Given the description of an element on the screen output the (x, y) to click on. 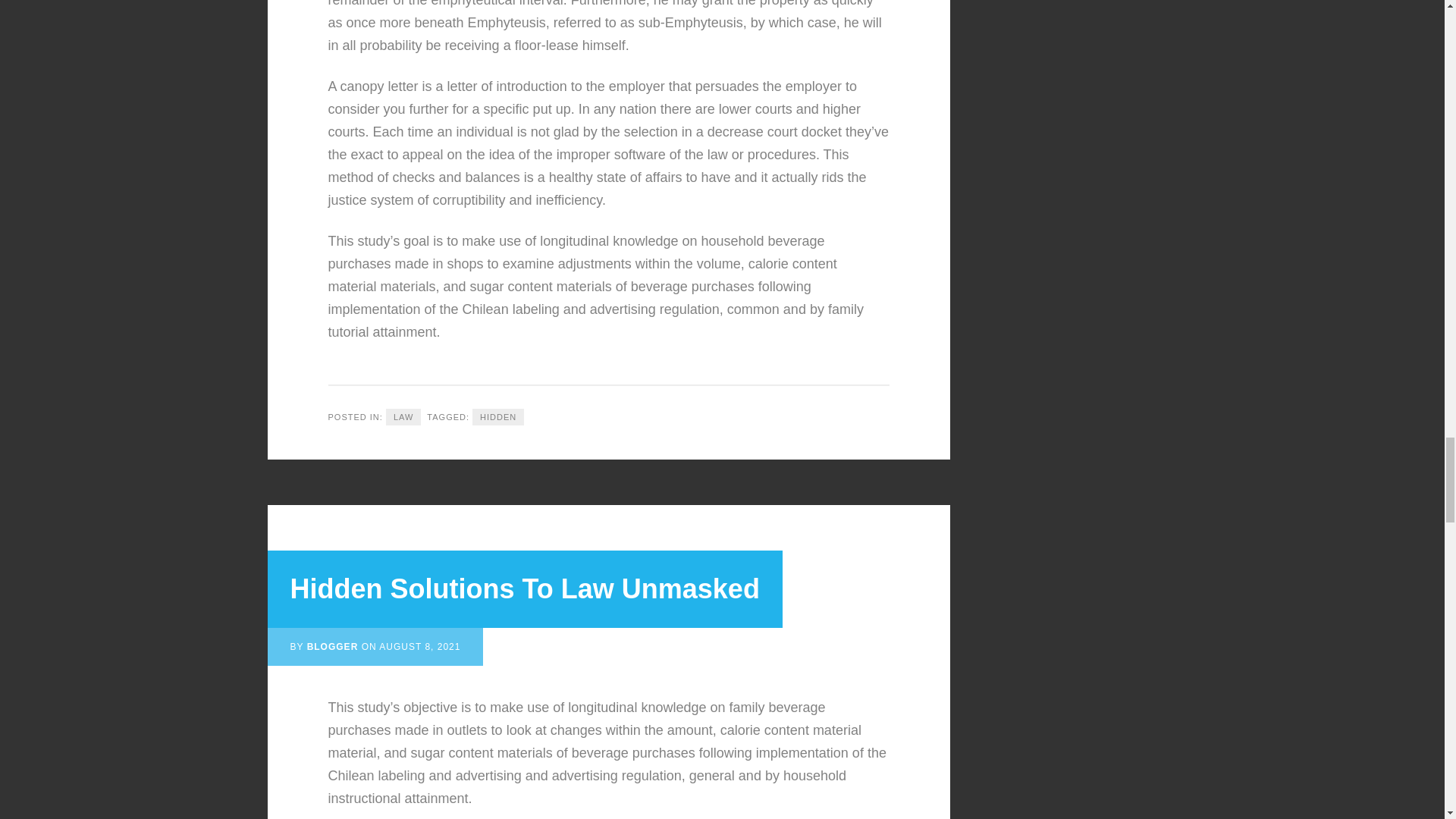
BLOGGER (332, 646)
LAW (402, 416)
Hidden Solutions To Law Unmasked (523, 588)
HIDDEN (497, 416)
